Given the description of an element on the screen output the (x, y) to click on. 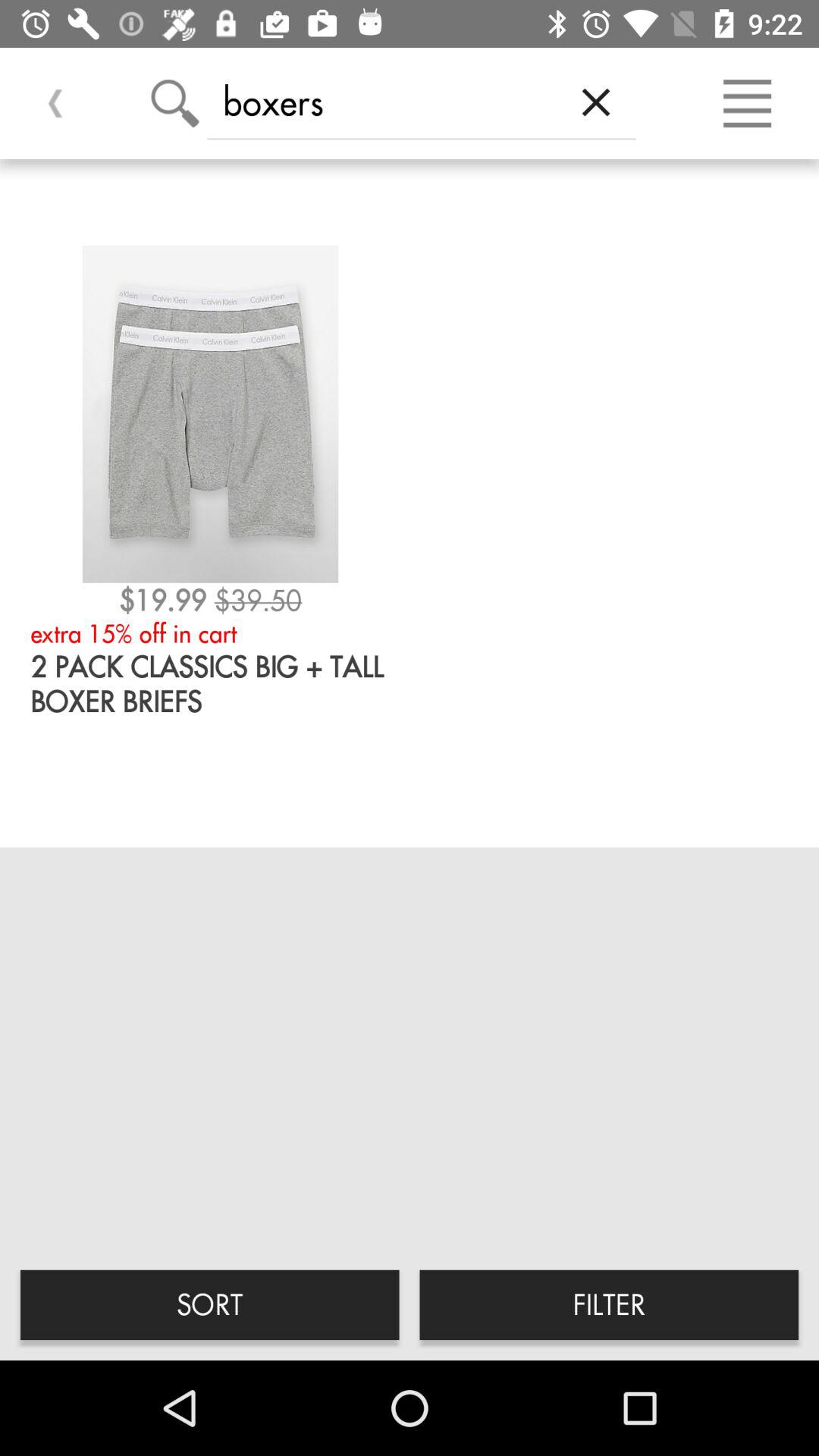
scroll until filter icon (608, 1304)
